Given the description of an element on the screen output the (x, y) to click on. 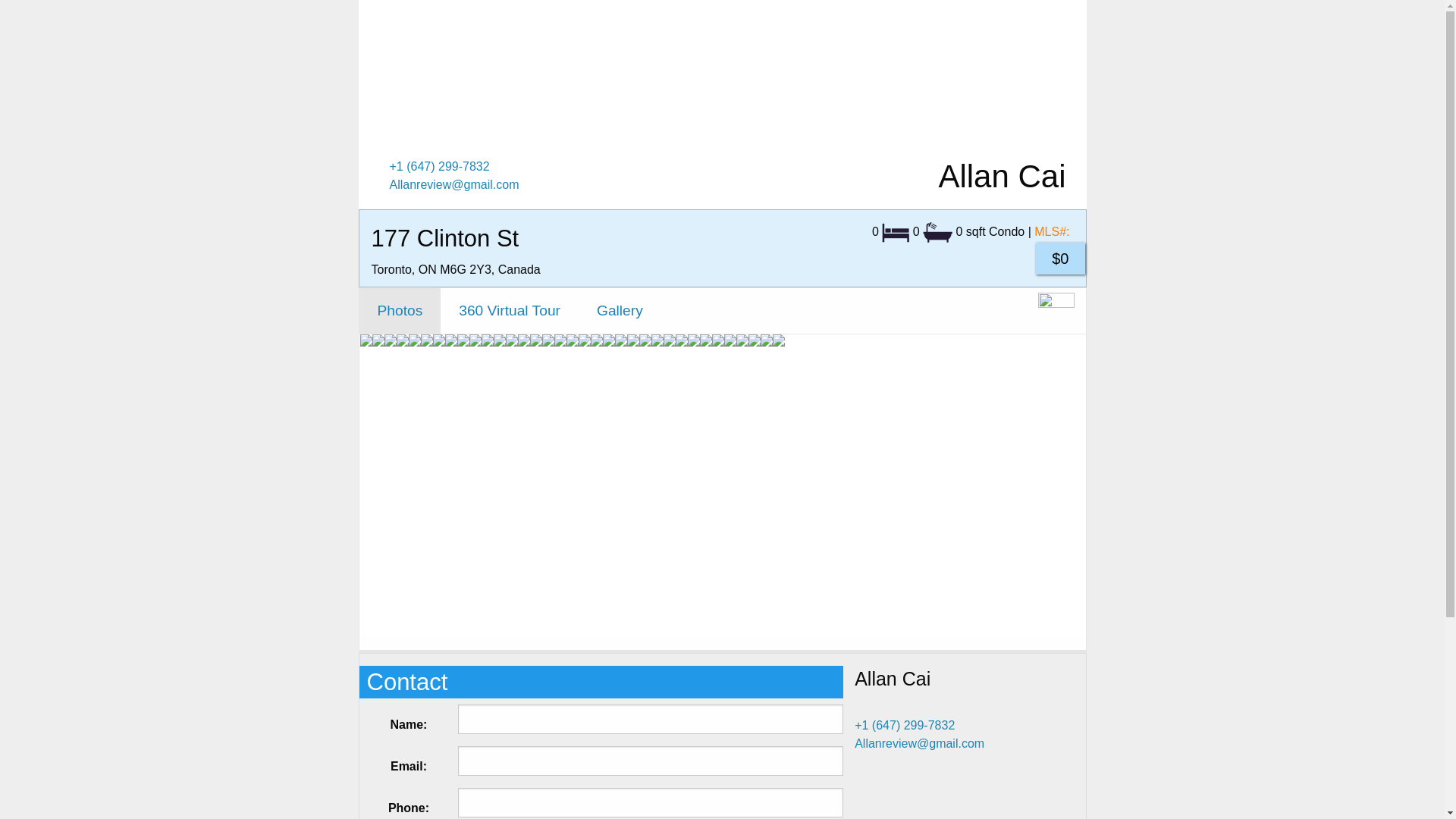
Photos Element type: text (400, 310)
Allanreview@gmail.com Element type: text (454, 184)
+1 (647) 299-7832 Element type: text (439, 166)
Bathrooms Element type: hover (937, 232)
Allanreview@gmail.com Element type: text (919, 743)
360 Virtual Tour Element type: text (509, 310)
Bedrooms Element type: hover (895, 232)
Gallery Element type: text (619, 310)
+1 (647) 299-7832 Element type: text (904, 724)
